Given the description of an element on the screen output the (x, y) to click on. 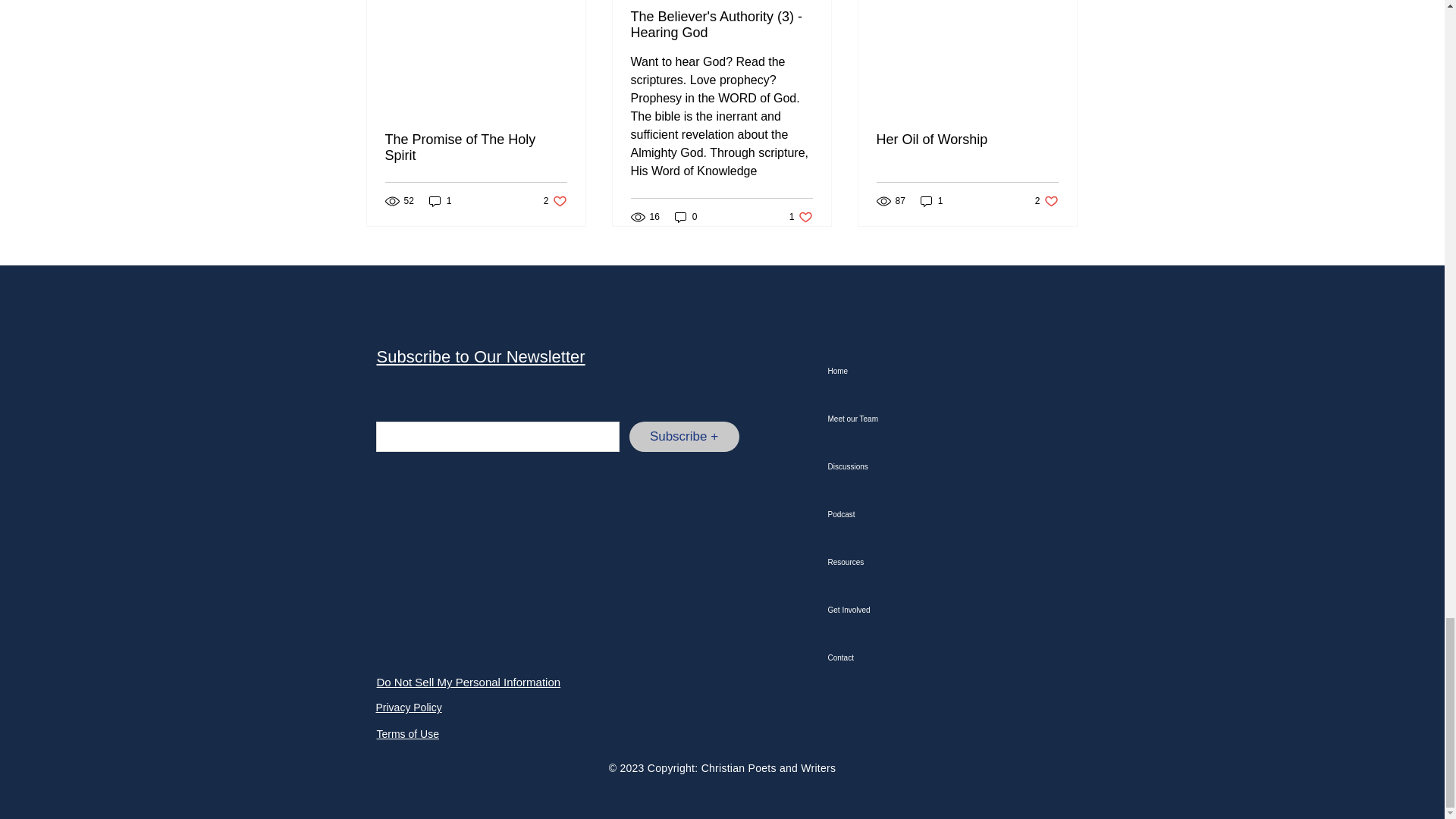
1 (555, 201)
The Promise of The Holy Spirit (440, 201)
